Given the description of an element on the screen output the (x, y) to click on. 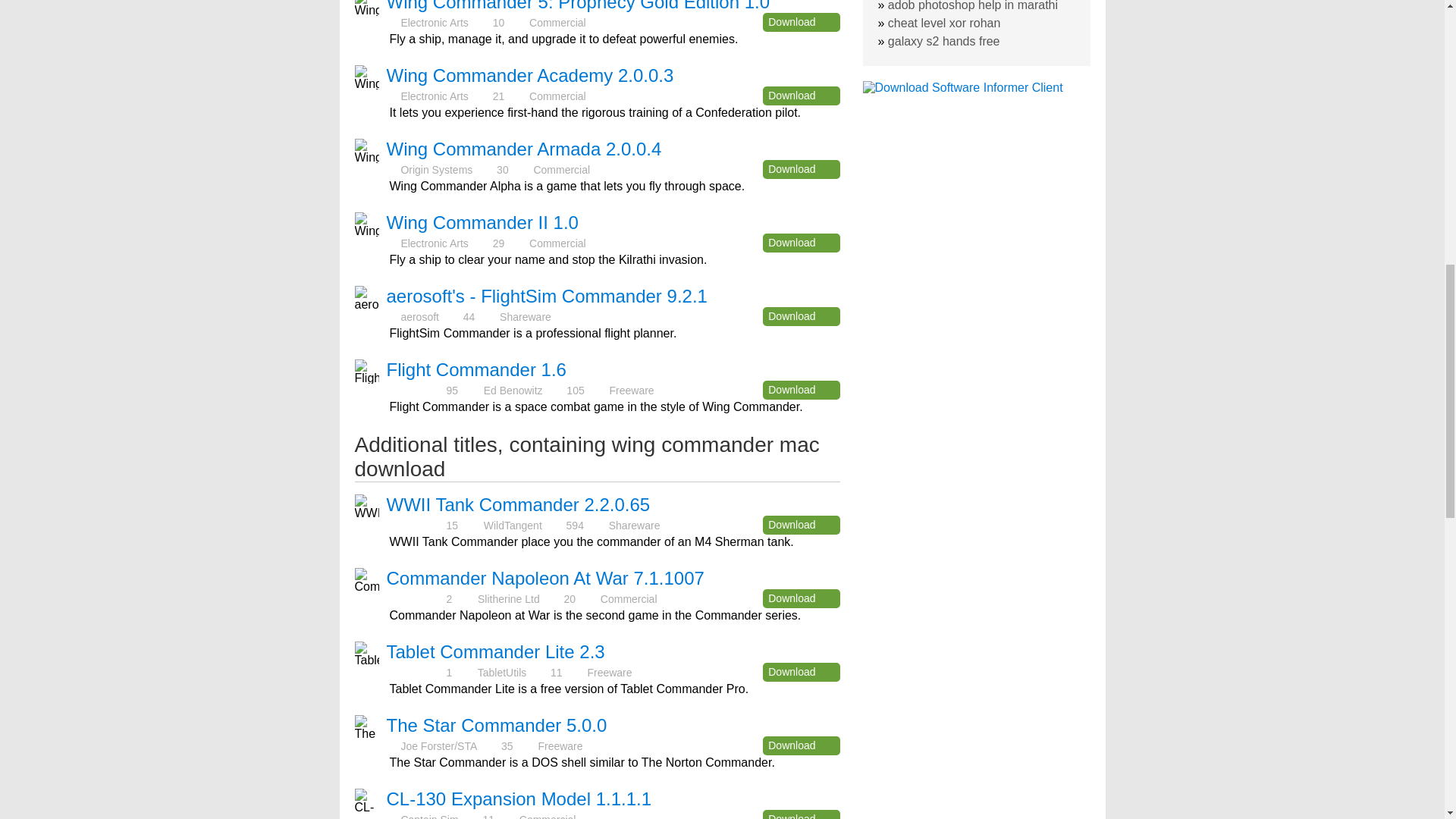
Wing Commander Armada 2.0.0.4 (524, 148)
Download (801, 389)
WWII Tank Commander 2.2.0.65 (518, 504)
Wing Commander 5: Prophecy Gold Edition 1.0 (578, 6)
3 (415, 672)
Commander Napoleon At War 7.1.1007 (545, 578)
Wing Commander II 1.0 (482, 222)
Download (801, 316)
Download (801, 598)
Download (801, 524)
